Given the description of an element on the screen output the (x, y) to click on. 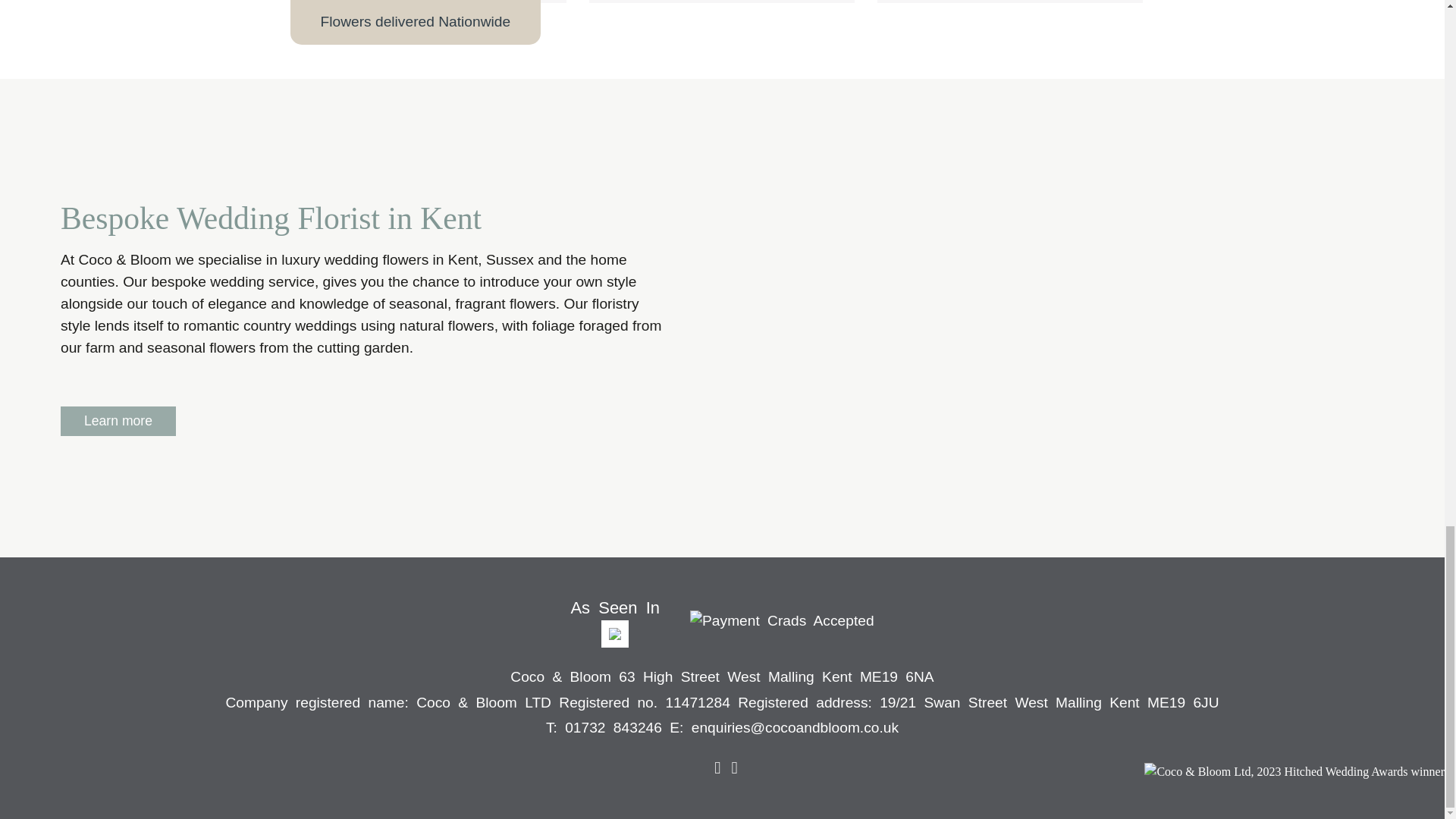
Learn more (118, 420)
Learn more (118, 420)
01732 843246 (613, 727)
